Given the description of an element on the screen output the (x, y) to click on. 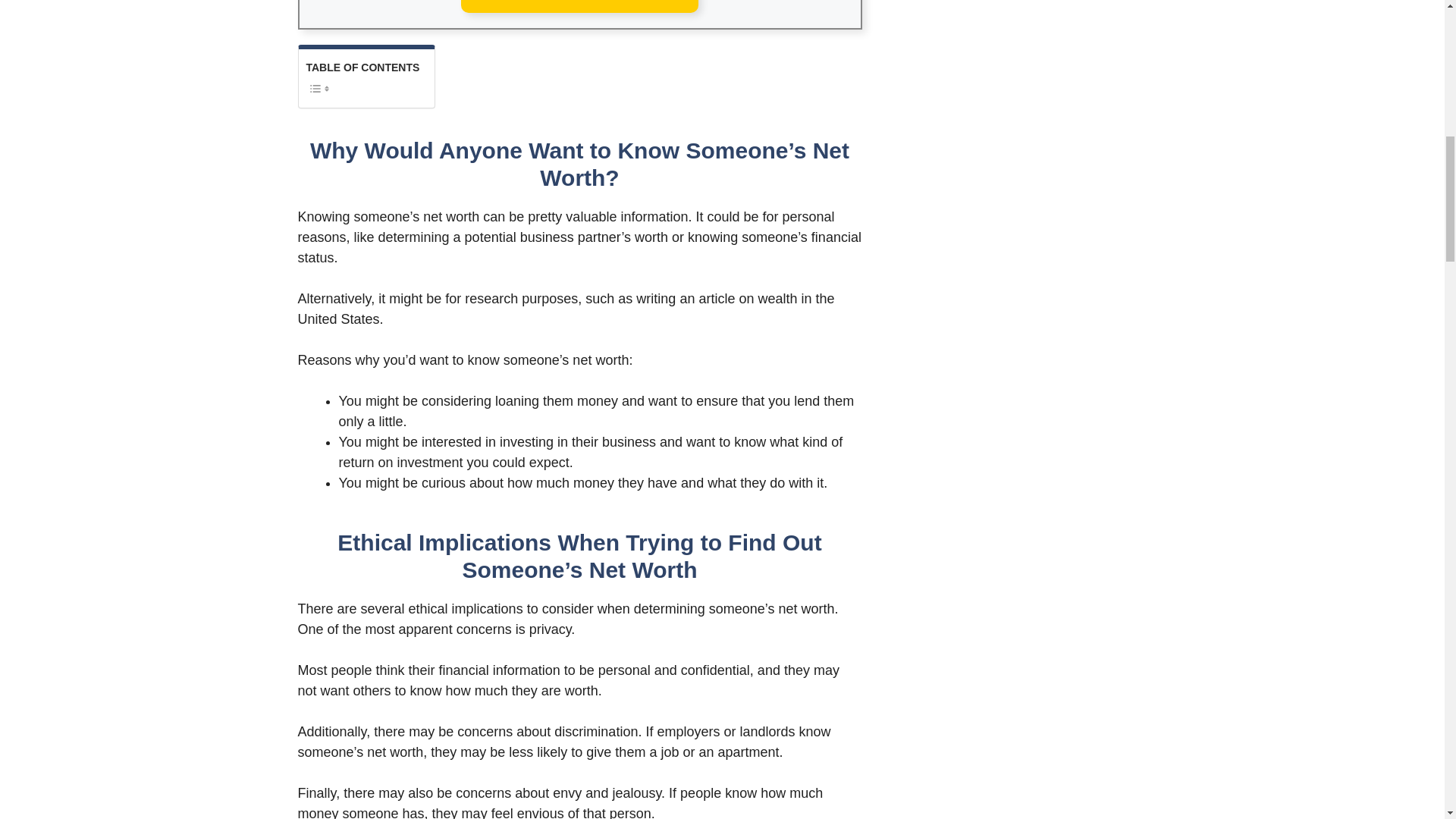
Search on BeenVerified Now (579, 6)
